Given the description of an element on the screen output the (x, y) to click on. 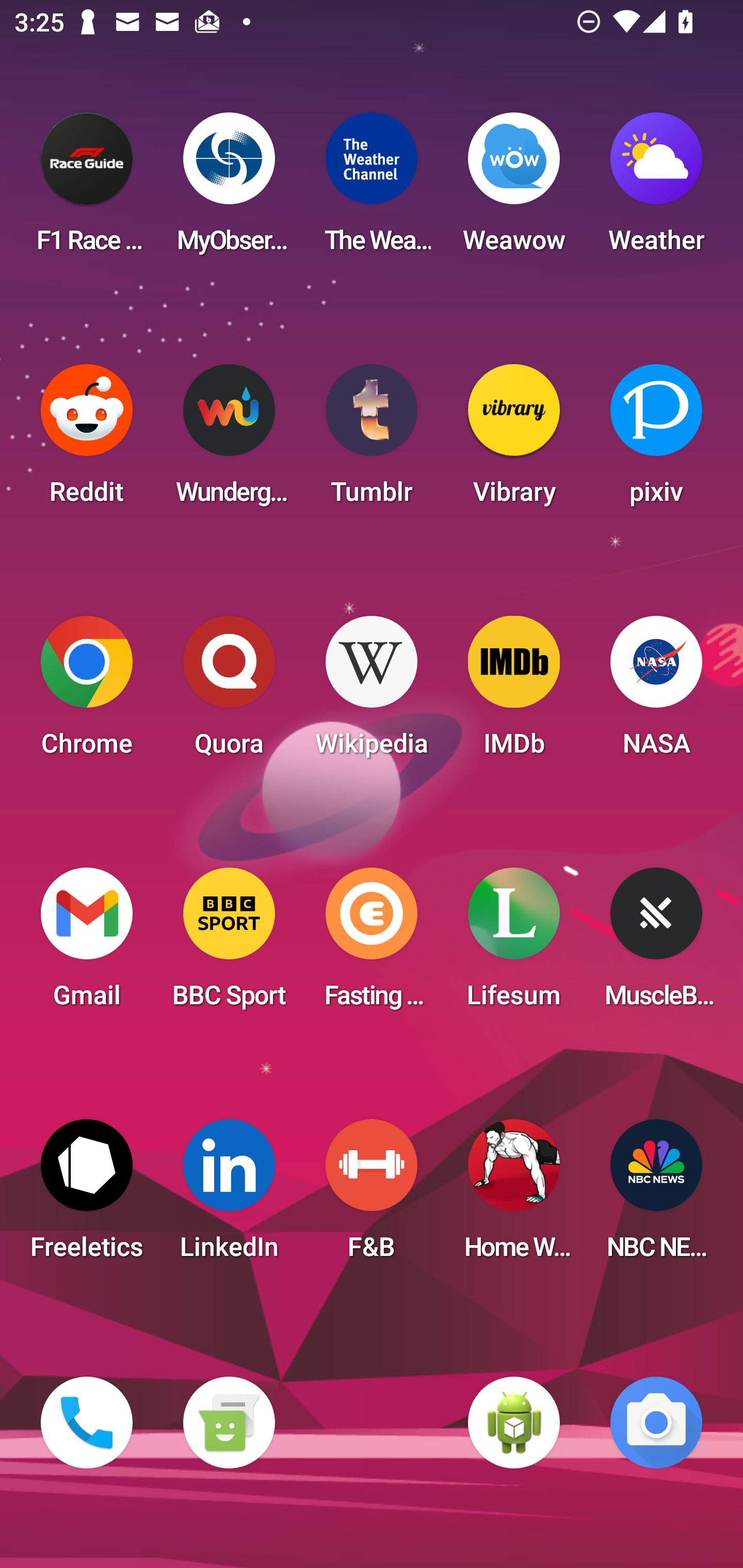
F1 Race Guide (86, 188)
MyObservatory (228, 188)
The Weather Channel (371, 188)
Weawow (513, 188)
Weather (656, 188)
Reddit (86, 440)
Wunderground (228, 440)
Tumblr (371, 440)
Vibrary (513, 440)
pixiv (656, 440)
Chrome (86, 692)
Quora (228, 692)
Wikipedia (371, 692)
IMDb (513, 692)
NASA (656, 692)
Gmail (86, 943)
BBC Sport (228, 943)
Fasting Coach (371, 943)
Lifesum (513, 943)
MuscleBooster (656, 943)
Freeletics (86, 1195)
LinkedIn (228, 1195)
F&B (371, 1195)
Home Workout (513, 1195)
NBC NEWS (656, 1195)
Phone (86, 1422)
Messaging (228, 1422)
WebView Browser Tester (513, 1422)
Camera (656, 1422)
